Given the description of an element on the screen output the (x, y) to click on. 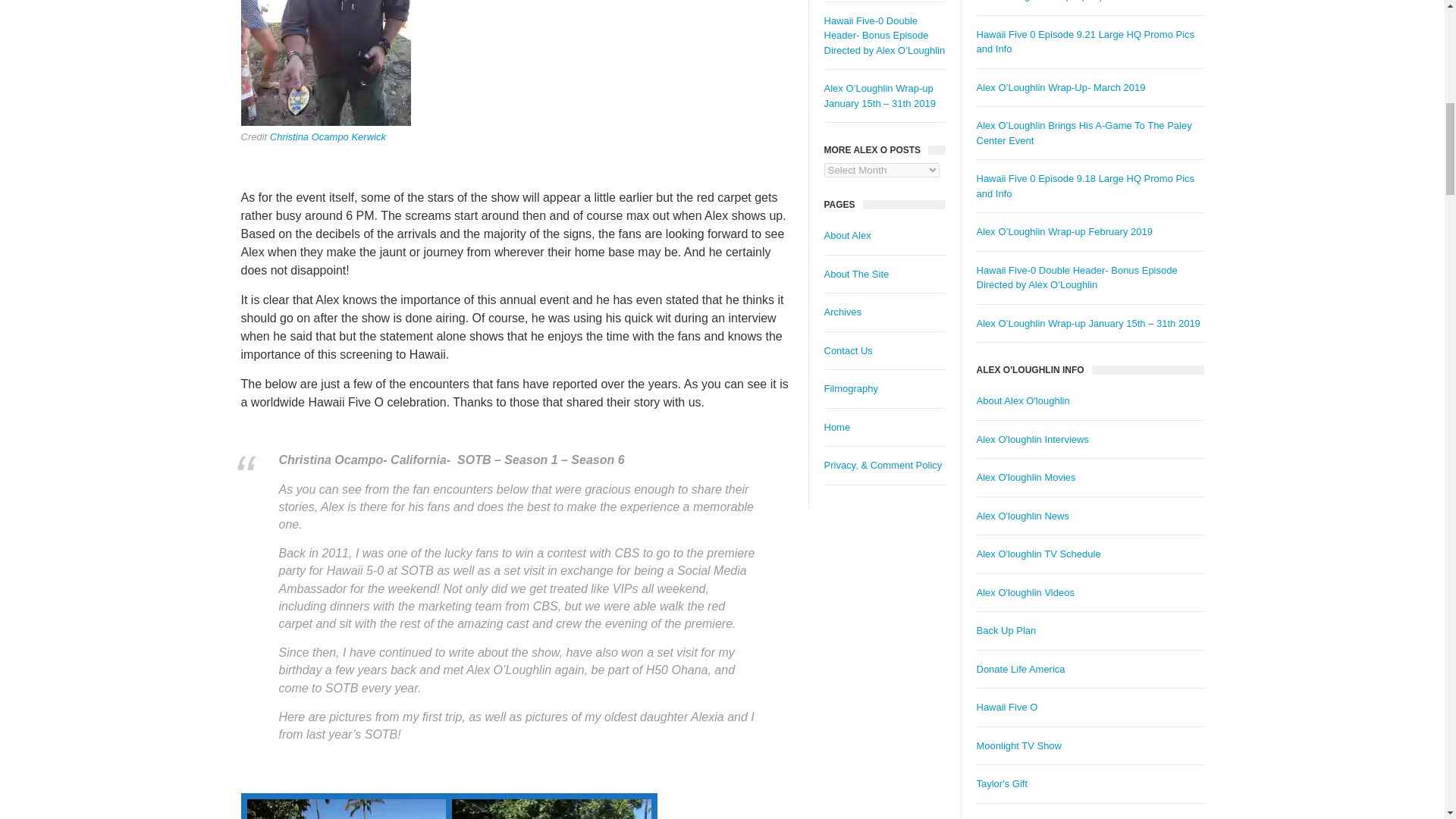
Christina Ocampo Kerwick (327, 136)
Sunset on the Beach fan experience (325, 63)
Sunset on the Beach fan experience (550, 809)
Sunset on the Beach fan experience (561, 805)
Sunset on the Beach fan experience (344, 807)
Sunset on the Beach fan experience (346, 809)
